Given the description of an element on the screen output the (x, y) to click on. 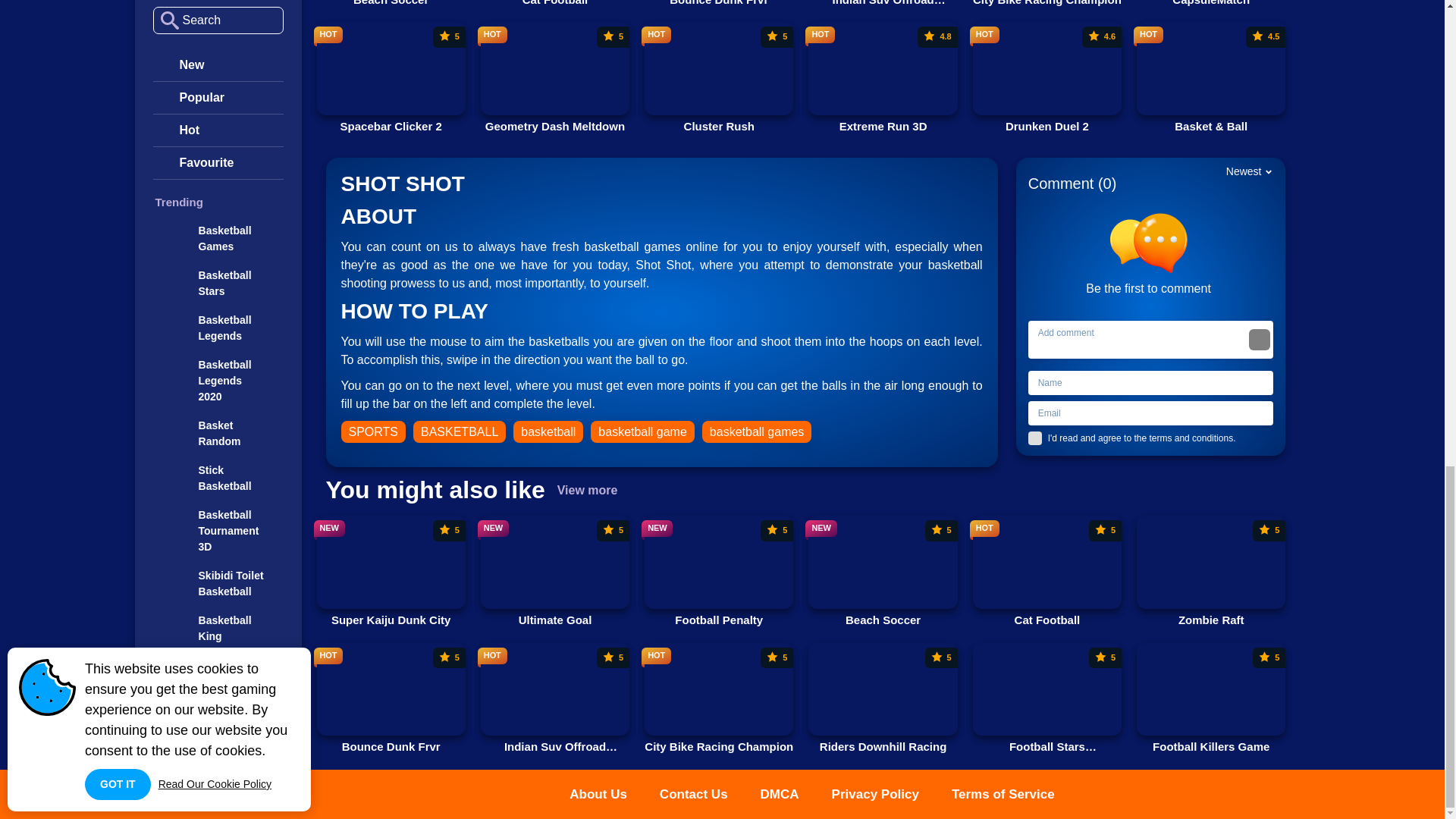
Cat Football (1046, 3)
Be the first to comment (719, 77)
SPORTS (554, 3)
